Given the description of an element on the screen output the (x, y) to click on. 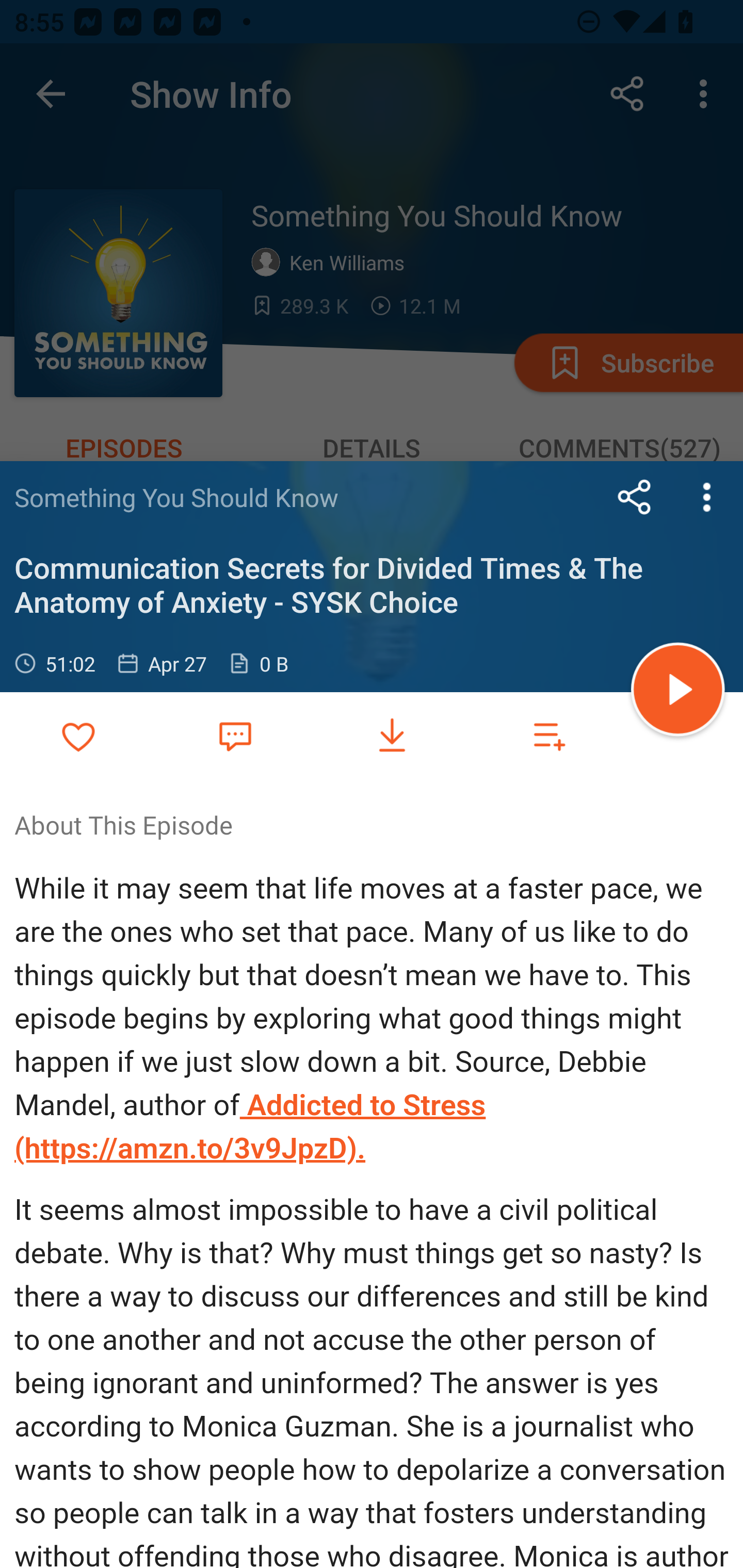
Share (634, 496)
more options (706, 496)
Play (677, 692)
Favorite (234, 735)
Add to Favorites (78, 735)
Download (391, 735)
Add to playlist (548, 735)
 Addicted to Stress (https://amzn.to/3v9JpzD). (250, 1126)
